Given the description of an element on the screen output the (x, y) to click on. 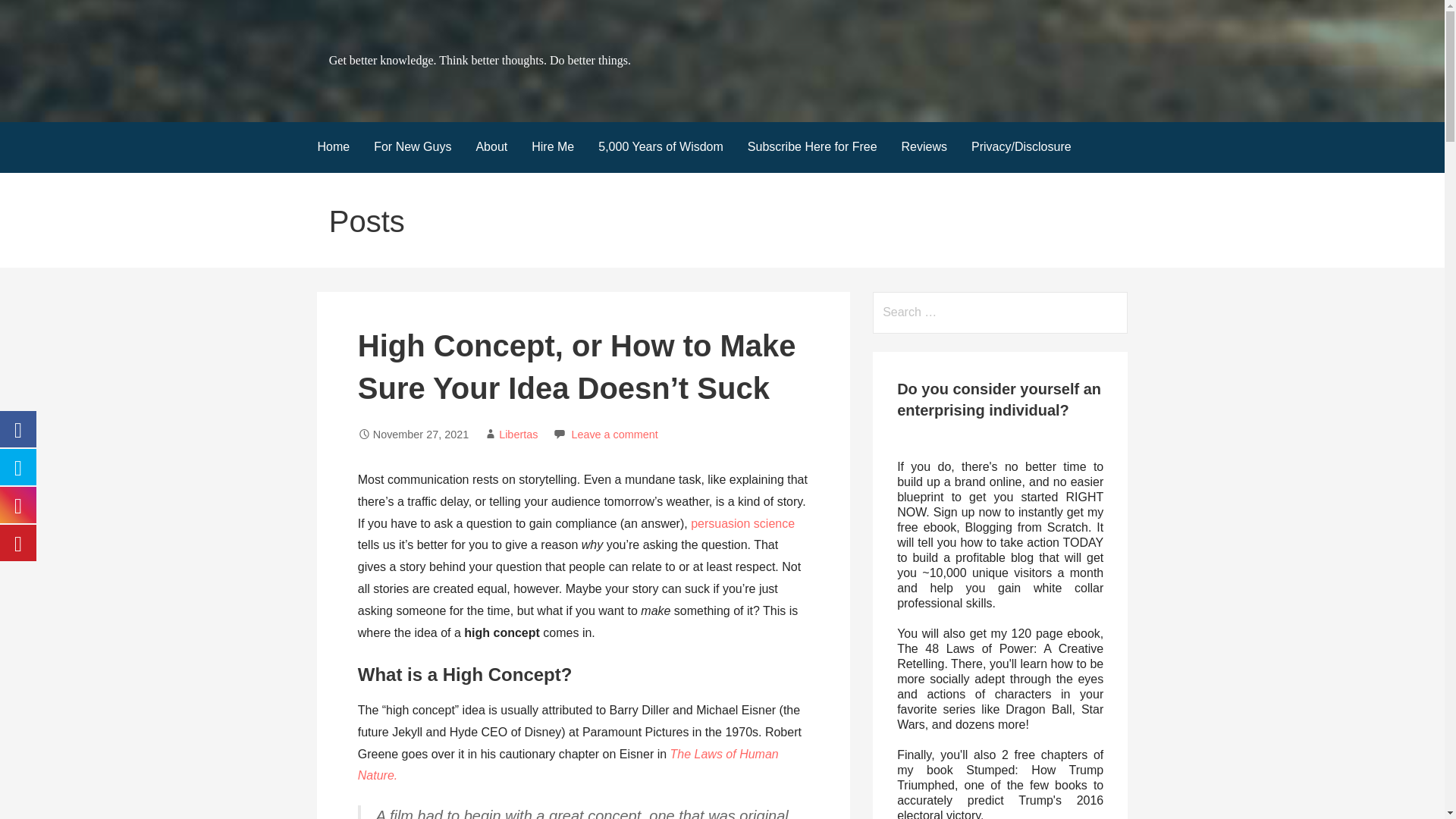
Home (332, 147)
About (491, 147)
For New Guys (412, 147)
Subscribe Here for Free (812, 147)
Posts by Libertas (518, 434)
The Laws of Human Nature. (568, 764)
Hire Me (552, 147)
Reviews (924, 147)
persuasion science (742, 522)
5,000 Years of Wisdom (660, 147)
Take 5 Steps and Become More Persuasive (742, 522)
Libertas (518, 434)
Leave a comment (614, 434)
